Given the description of an element on the screen output the (x, y) to click on. 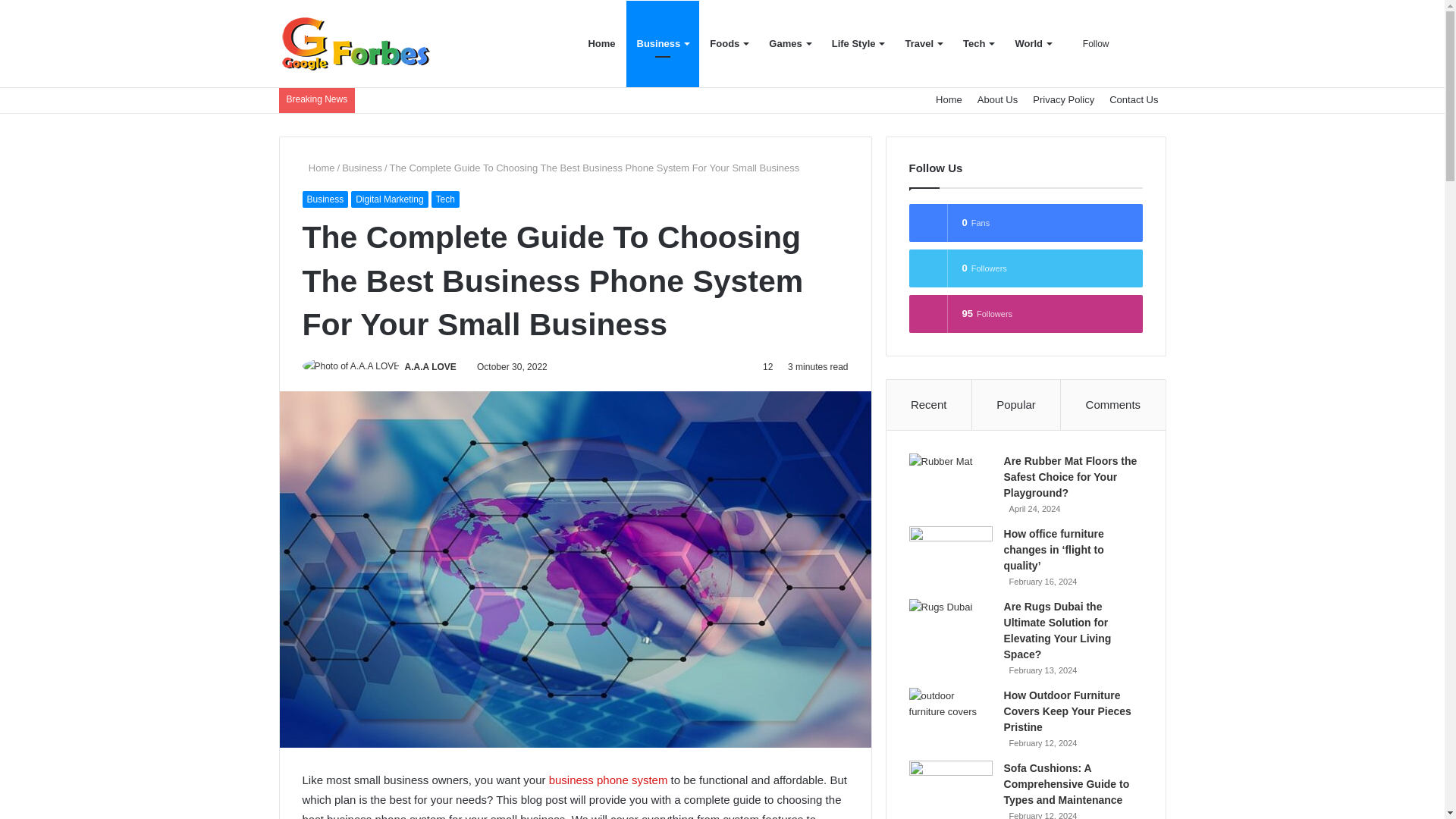
business phone system (608, 779)
Business (361, 167)
Digital Marketing (389, 199)
Home (948, 99)
Tech (445, 199)
Contact Us (1134, 99)
Business (324, 199)
A.A.A LOVE (430, 366)
Privacy Policy (1063, 99)
A.A.A LOVE (430, 366)
